Given the description of an element on the screen output the (x, y) to click on. 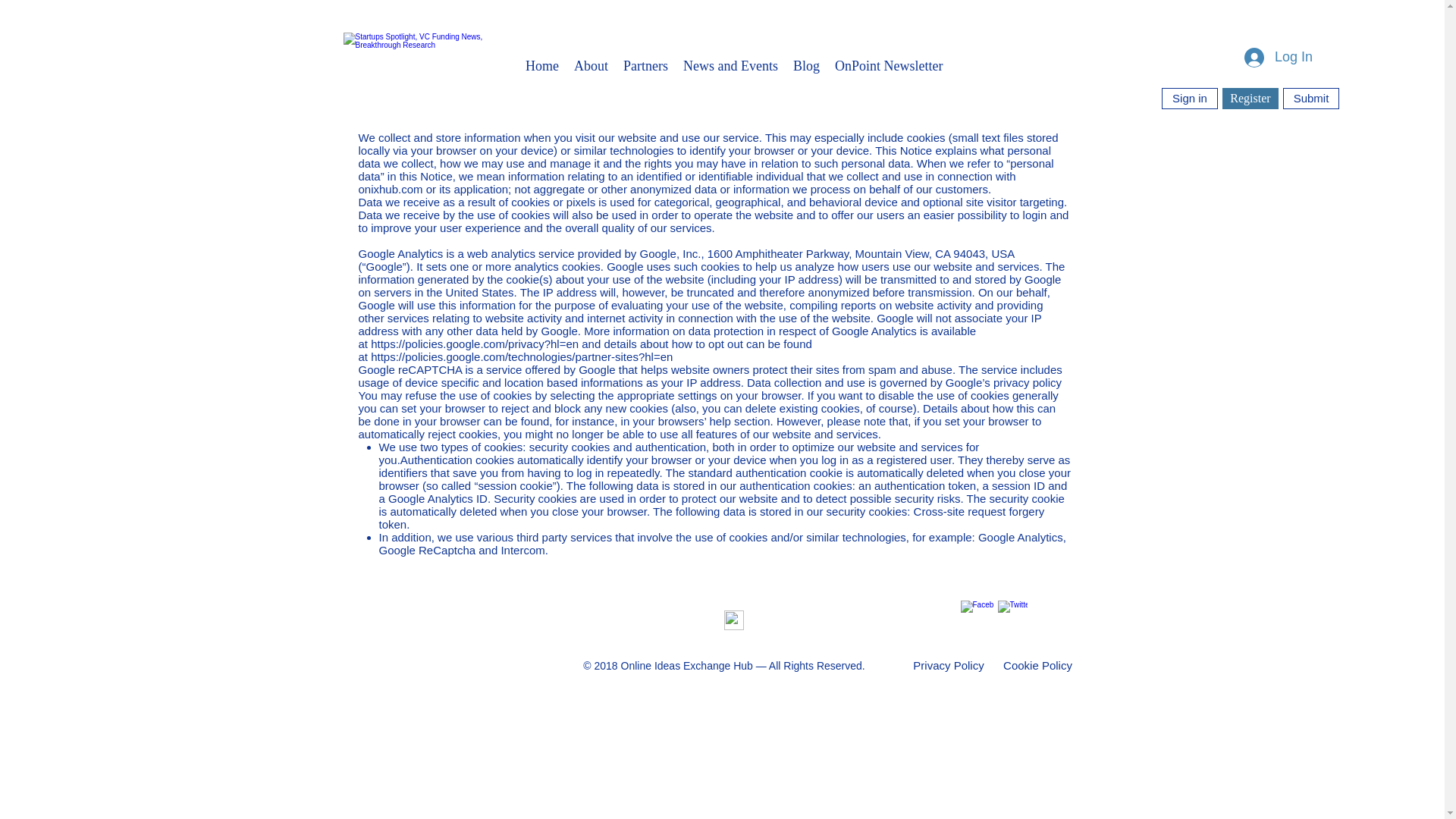
Home (542, 65)
Blog (806, 65)
News and Events (730, 65)
Log In (1278, 57)
Register (1250, 97)
Cookie Policy (1038, 665)
Submit (1310, 97)
Privacy Policy (949, 665)
Partners (645, 65)
OnPoint Newsletter (888, 65)
